Given the description of an element on the screen output the (x, y) to click on. 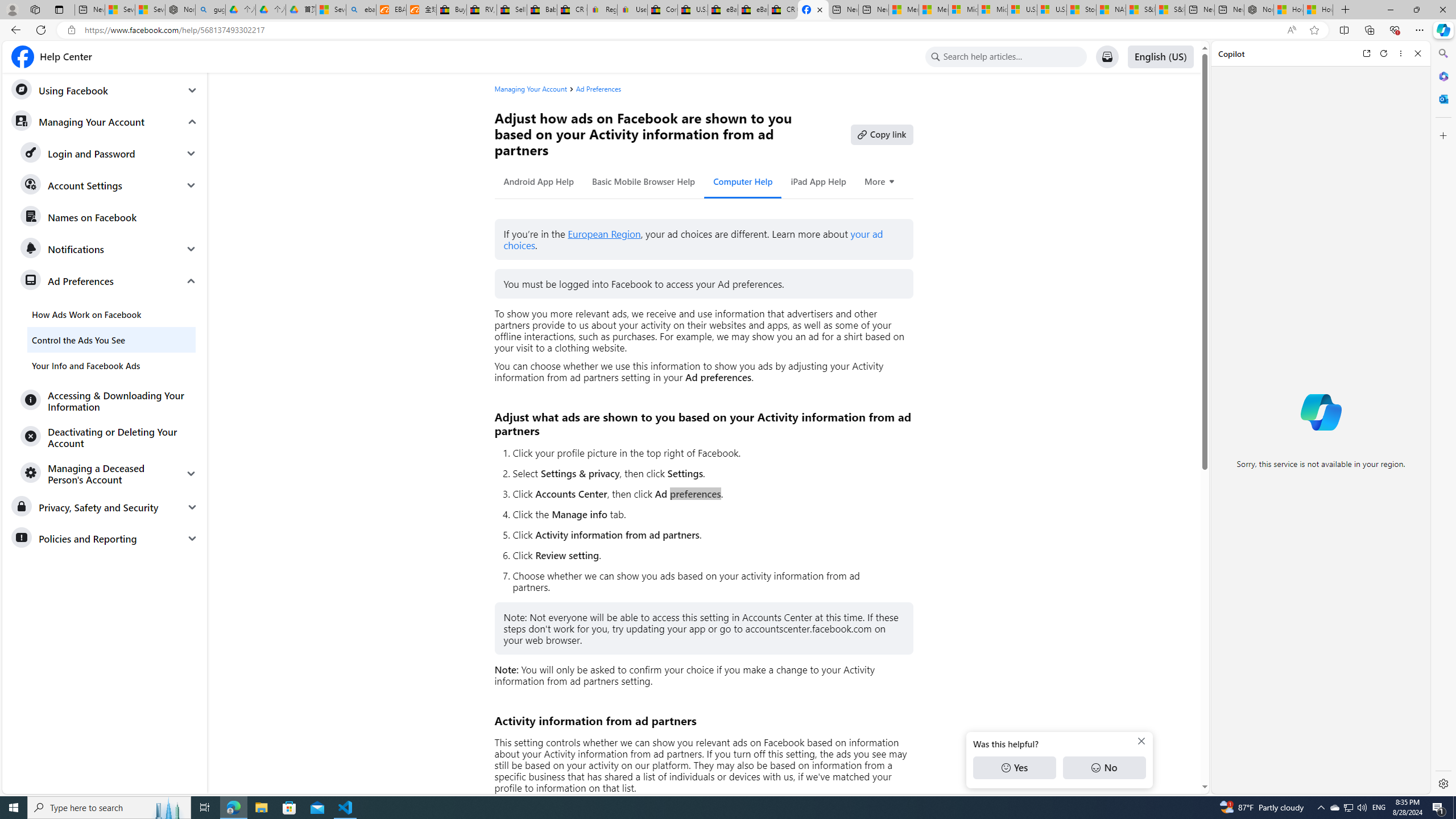
Settings (1442, 783)
How Ads Work on Facebook (111, 313)
How to Use a Monitor With Your Closed Laptop (1318, 9)
Accessing & Downloading Your Information (108, 400)
Click Activity information from ad partners. (707, 534)
European Region (603, 233)
User Privacy Notice | eBay (632, 9)
U.S. State Privacy Disclosures - eBay Inc. (691, 9)
Managing Your Account (529, 89)
